Given the description of an element on the screen output the (x, y) to click on. 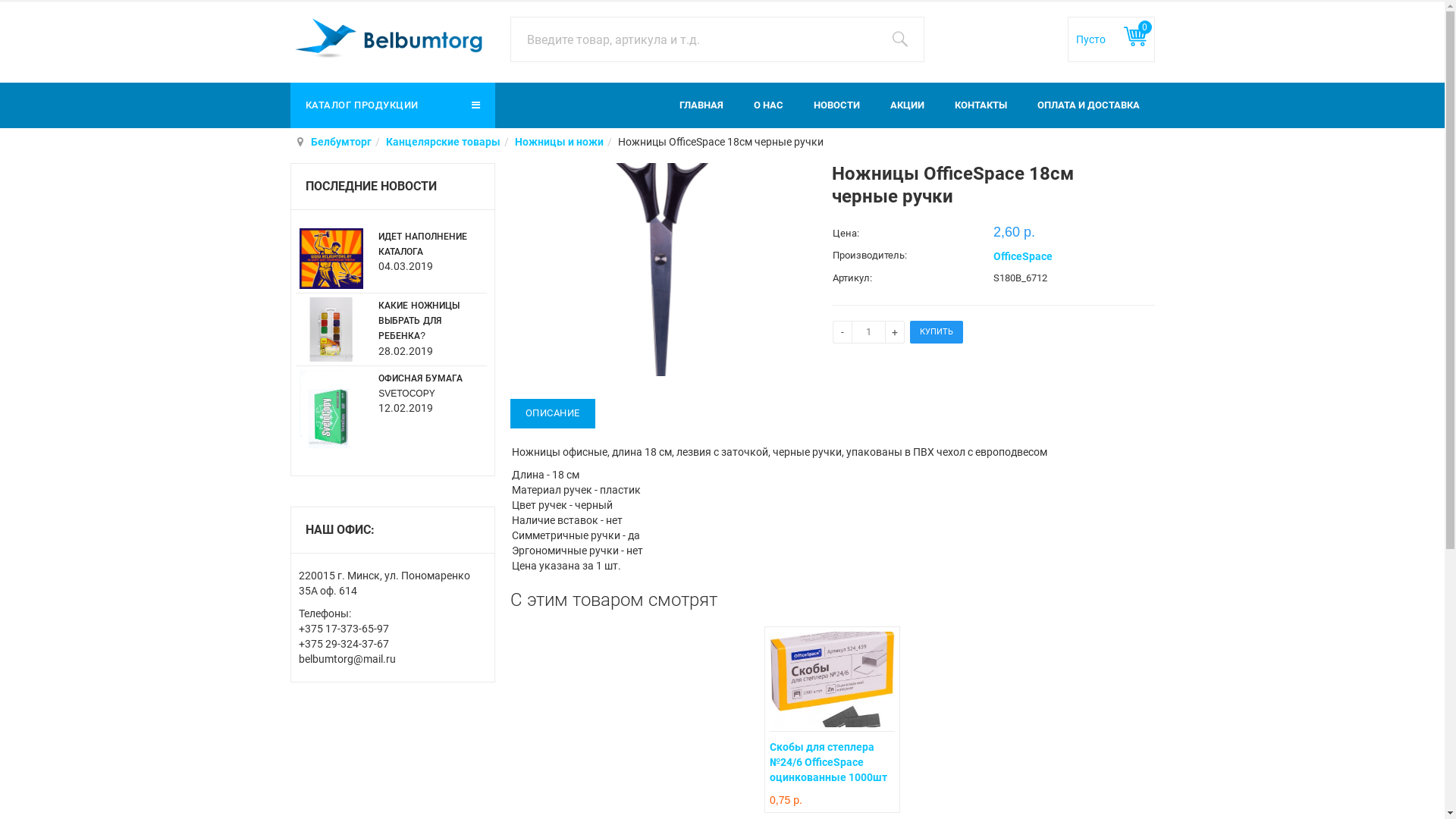
OfficeSpace Element type: text (1022, 256)
